Given the description of an element on the screen output the (x, y) to click on. 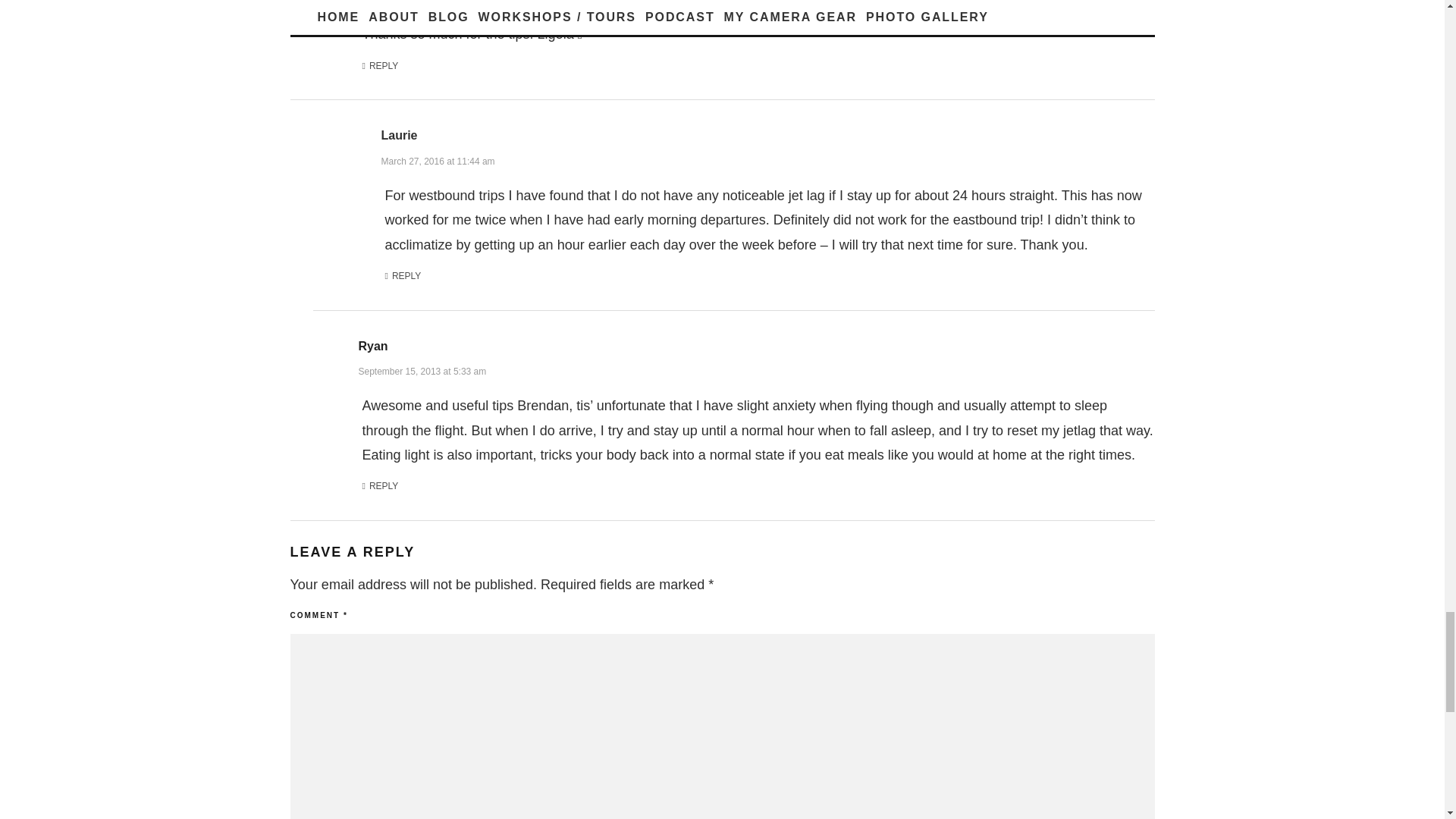
September 15, 2013 at 5:33 am (422, 369)
Ryan (372, 345)
REPLY (403, 276)
REPLY (380, 486)
REPLY (380, 66)
March 27, 2016 at 11:44 am (437, 159)
